Given the description of an element on the screen output the (x, y) to click on. 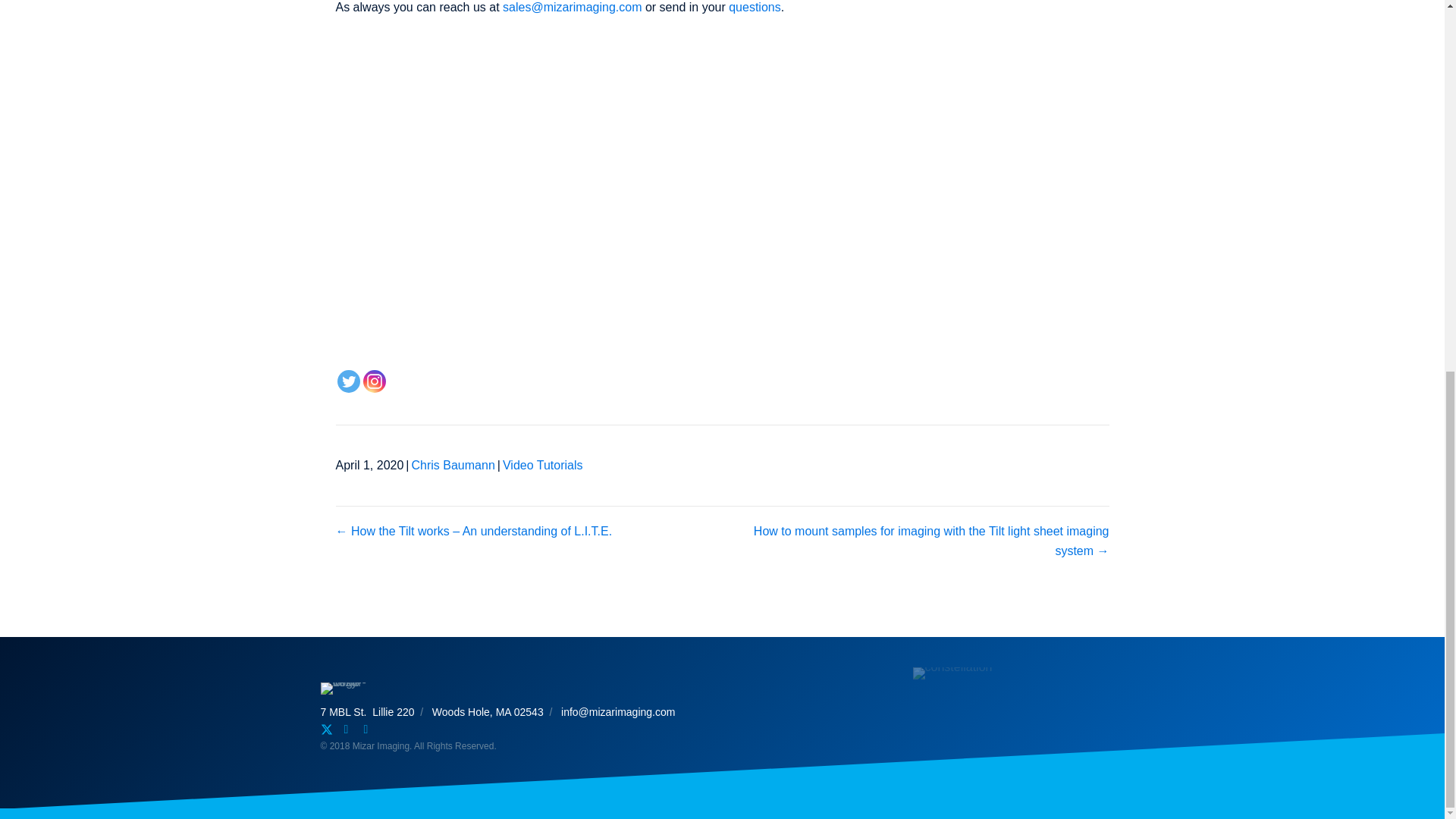
Instagram (373, 381)
Twitter (347, 381)
Mizar-Text-Only-Logo (350, 688)
YouTube (365, 729)
